Given the description of an element on the screen output the (x, y) to click on. 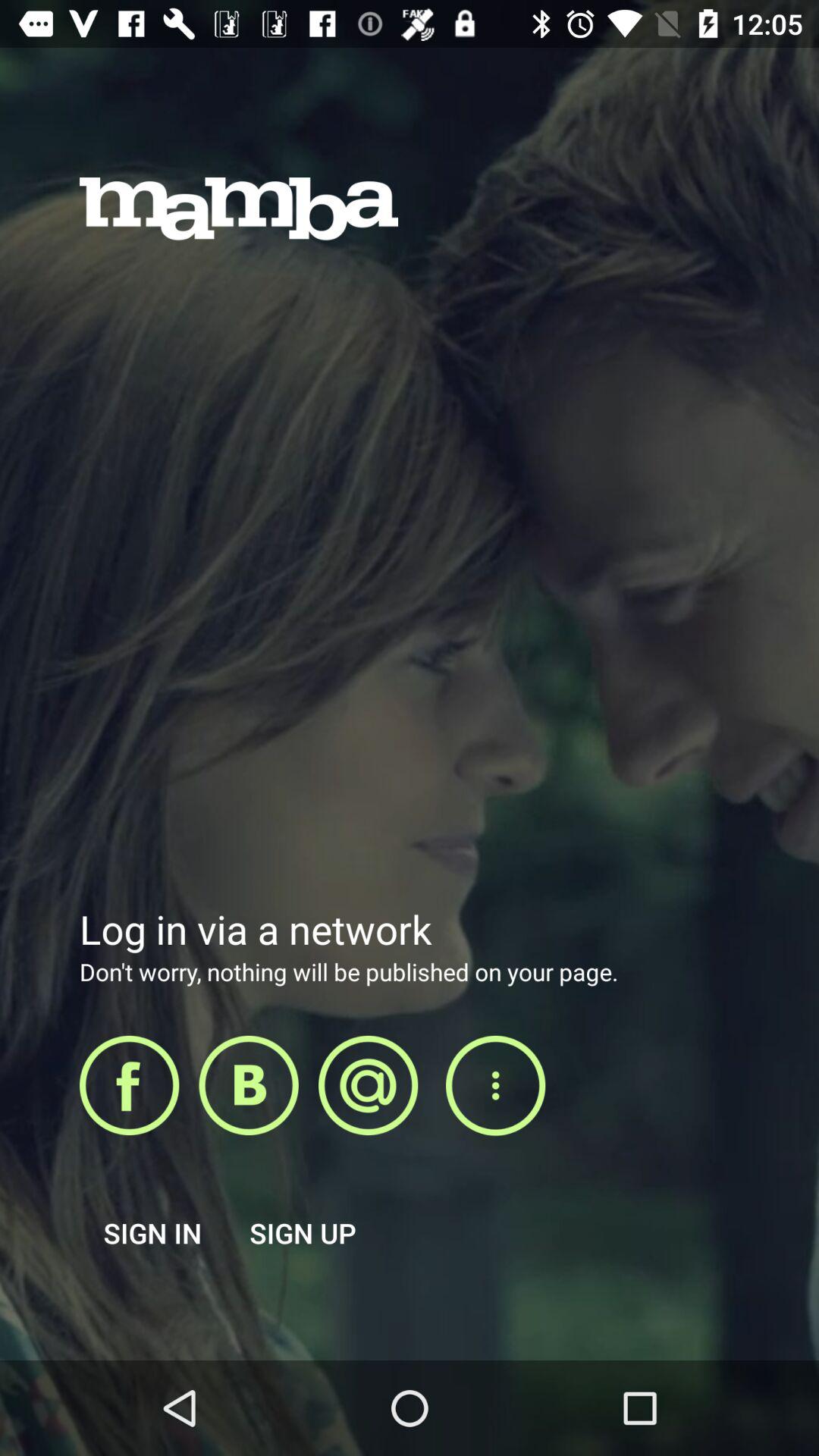
view more options (495, 1086)
